Given the description of an element on the screen output the (x, y) to click on. 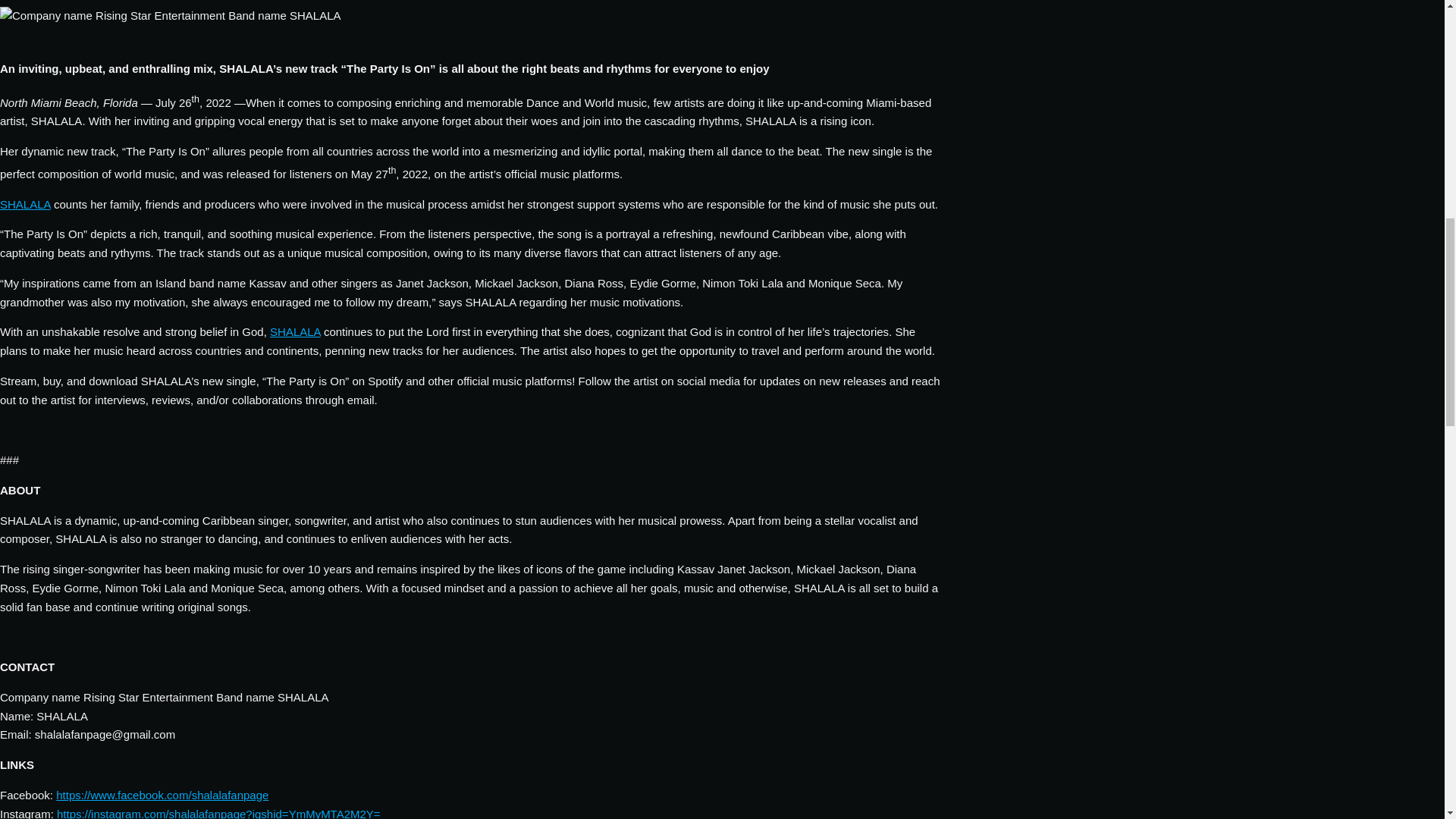
SHALALA (25, 204)
SHALALA (294, 331)
Company name Rising Star Entertainment Band name SHALALA (170, 27)
